Given the description of an element on the screen output the (x, y) to click on. 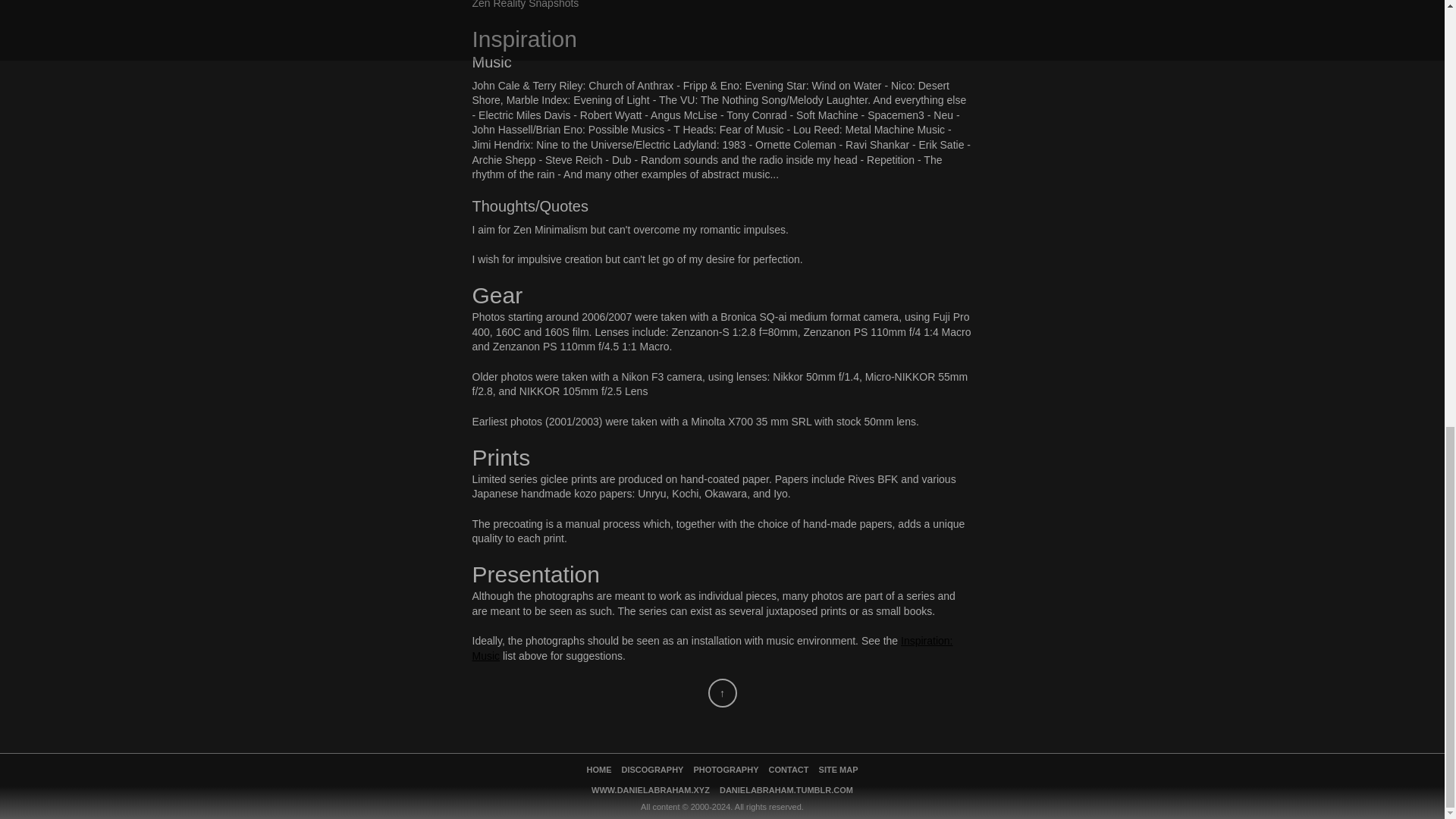
SITE MAP (838, 769)
DANIELABRAHAM.TUMBLR.COM (786, 790)
CONTACT (788, 769)
Inspiration: Music (711, 647)
DISCOGRAPHY (652, 769)
PHOTOGRAPHY (726, 769)
WWW.DANIELABRAHAM.XYZ (650, 790)
HOME (598, 769)
